Given the description of an element on the screen output the (x, y) to click on. 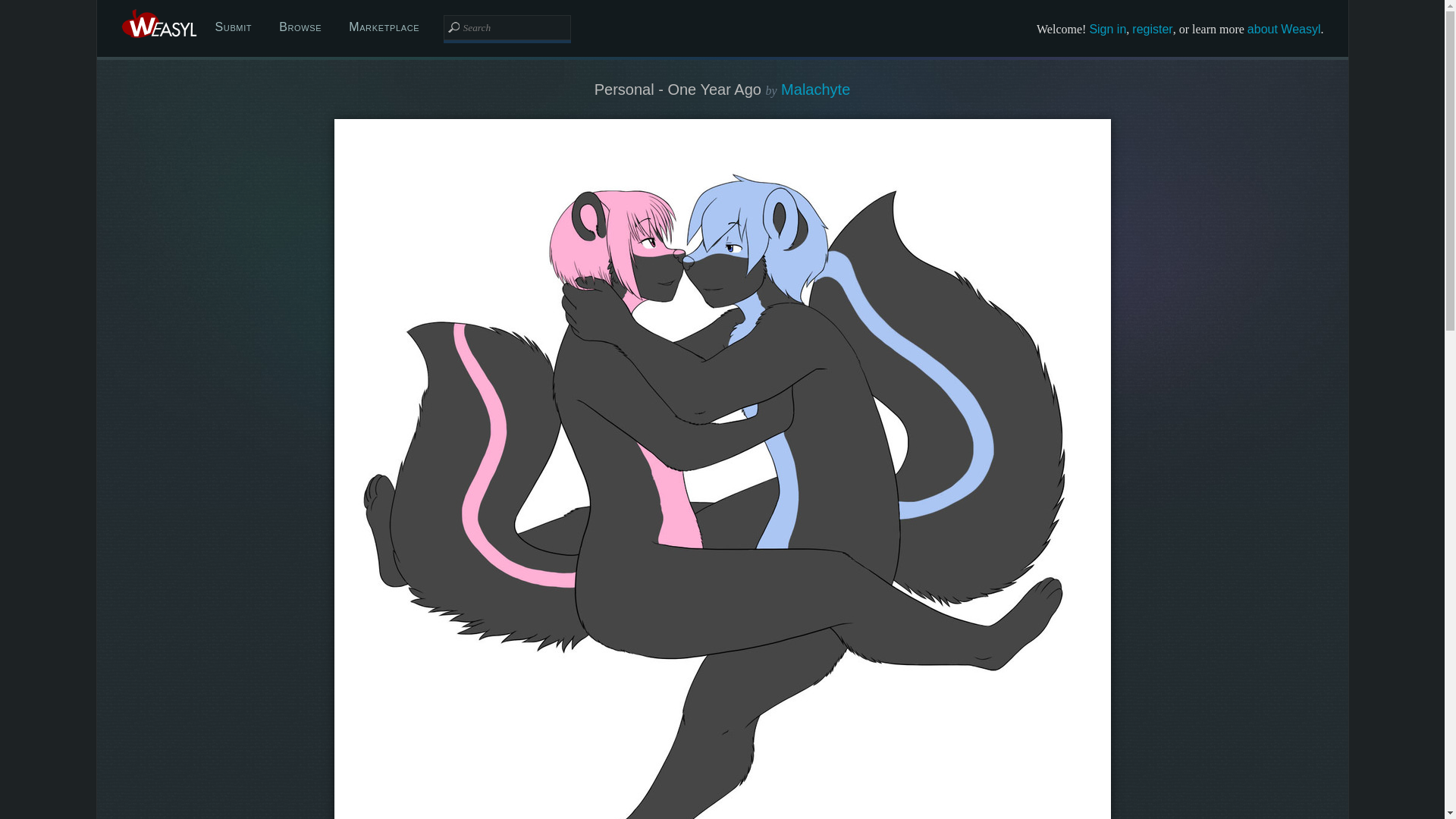
Search Weasyl (507, 27)
about Weasyl (1283, 29)
register (1152, 29)
Malachyte (815, 89)
Submit (233, 27)
Browse (299, 27)
Sign in (1107, 29)
Marketplace (383, 27)
